Given the description of an element on the screen output the (x, y) to click on. 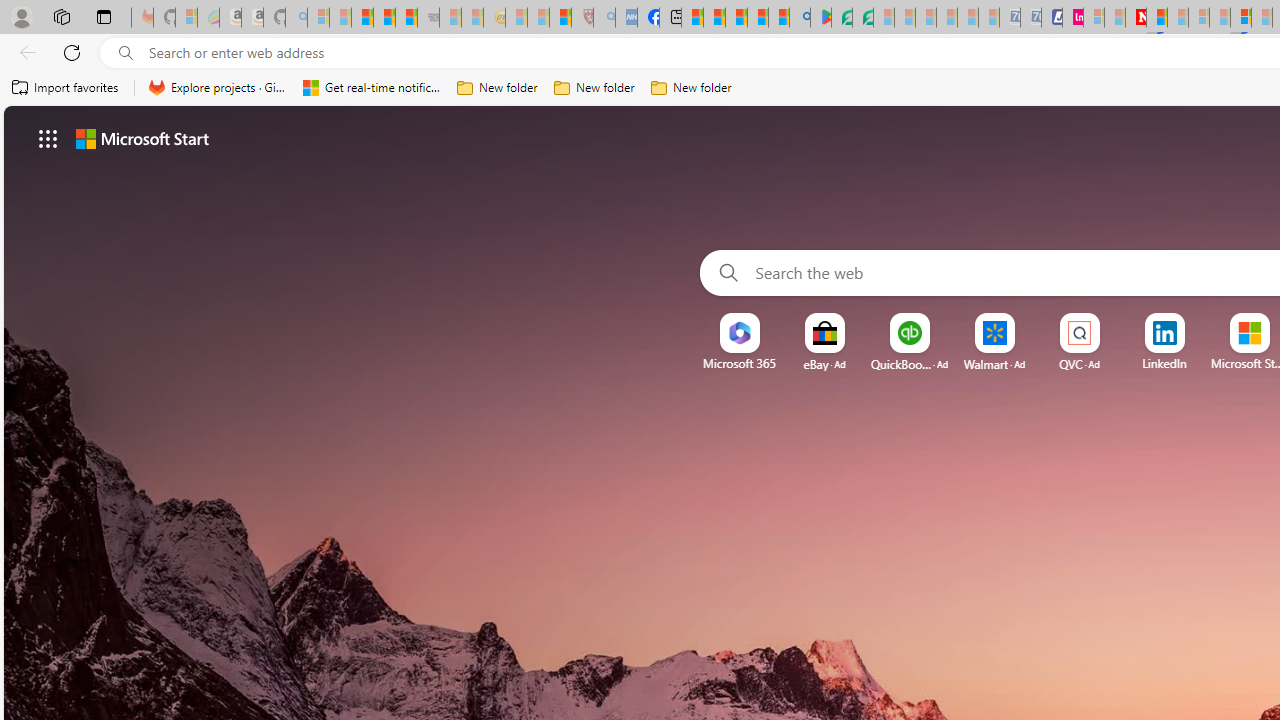
LinkedIn (1163, 363)
New Report Confirms 2023 Was Record Hot | Watch (406, 17)
